Given the description of an element on the screen output the (x, y) to click on. 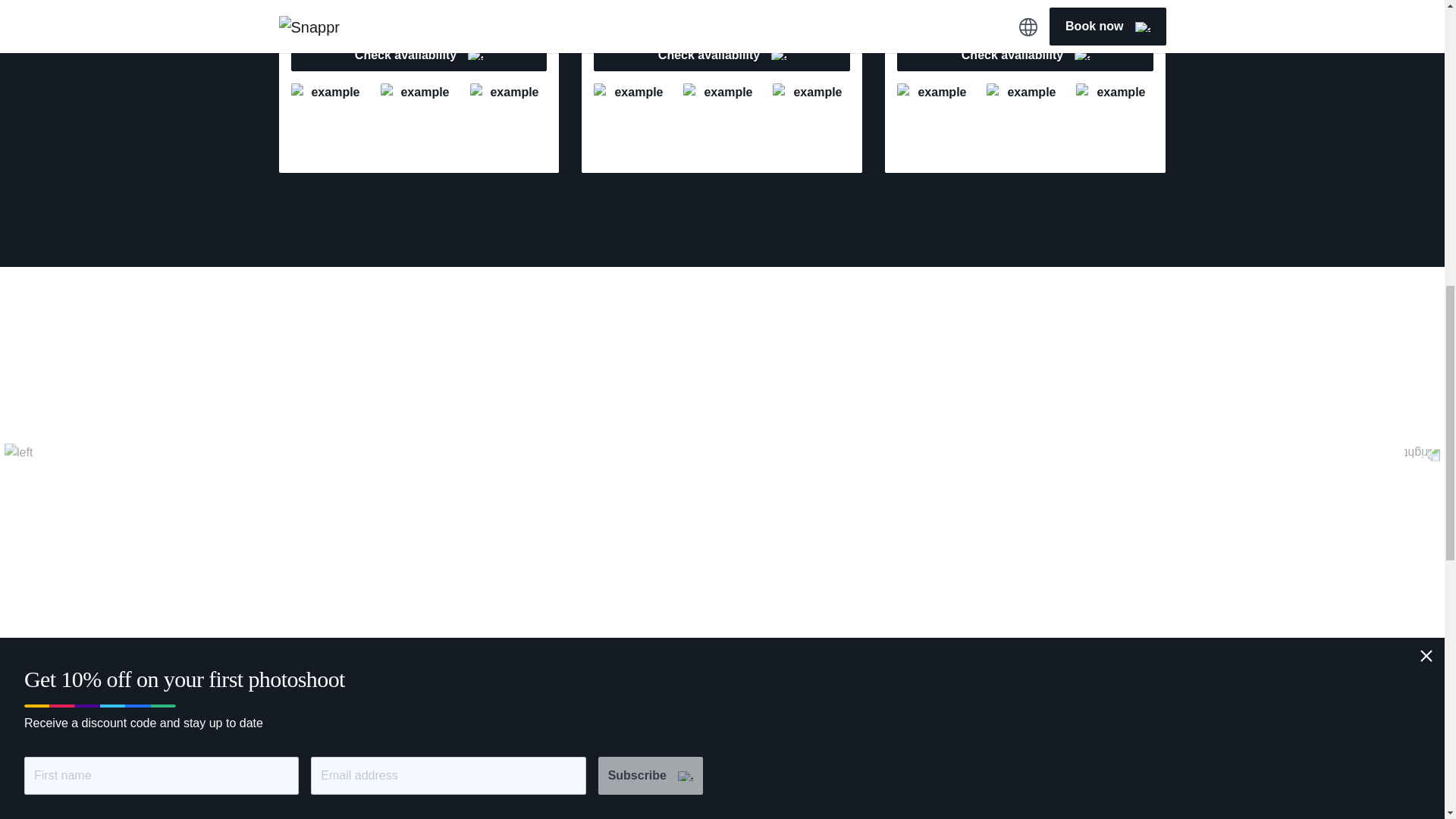
Check availability (419, 55)
Check availability (722, 55)
Check availability (1024, 55)
